Given the description of an element on the screen output the (x, y) to click on. 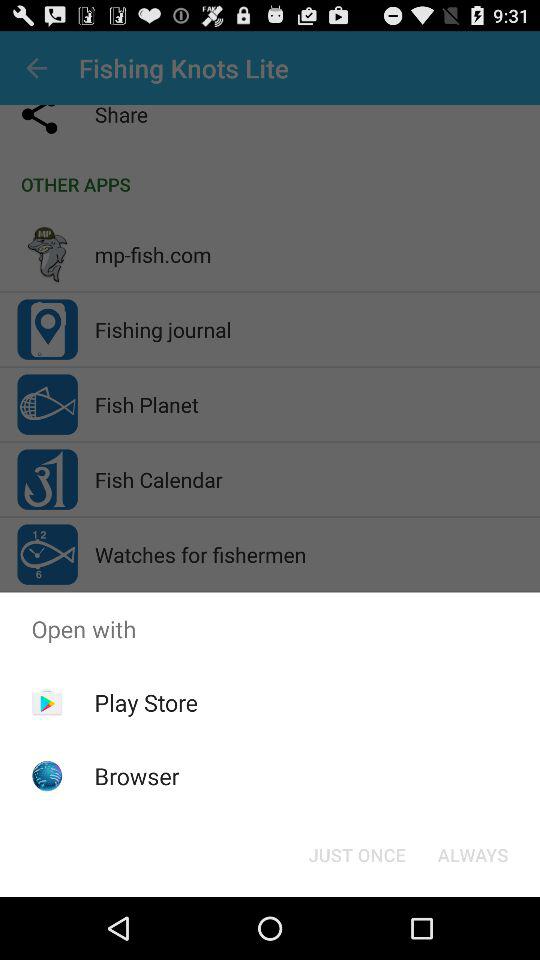
tap the icon at the bottom right corner (472, 854)
